Given the description of an element on the screen output the (x, y) to click on. 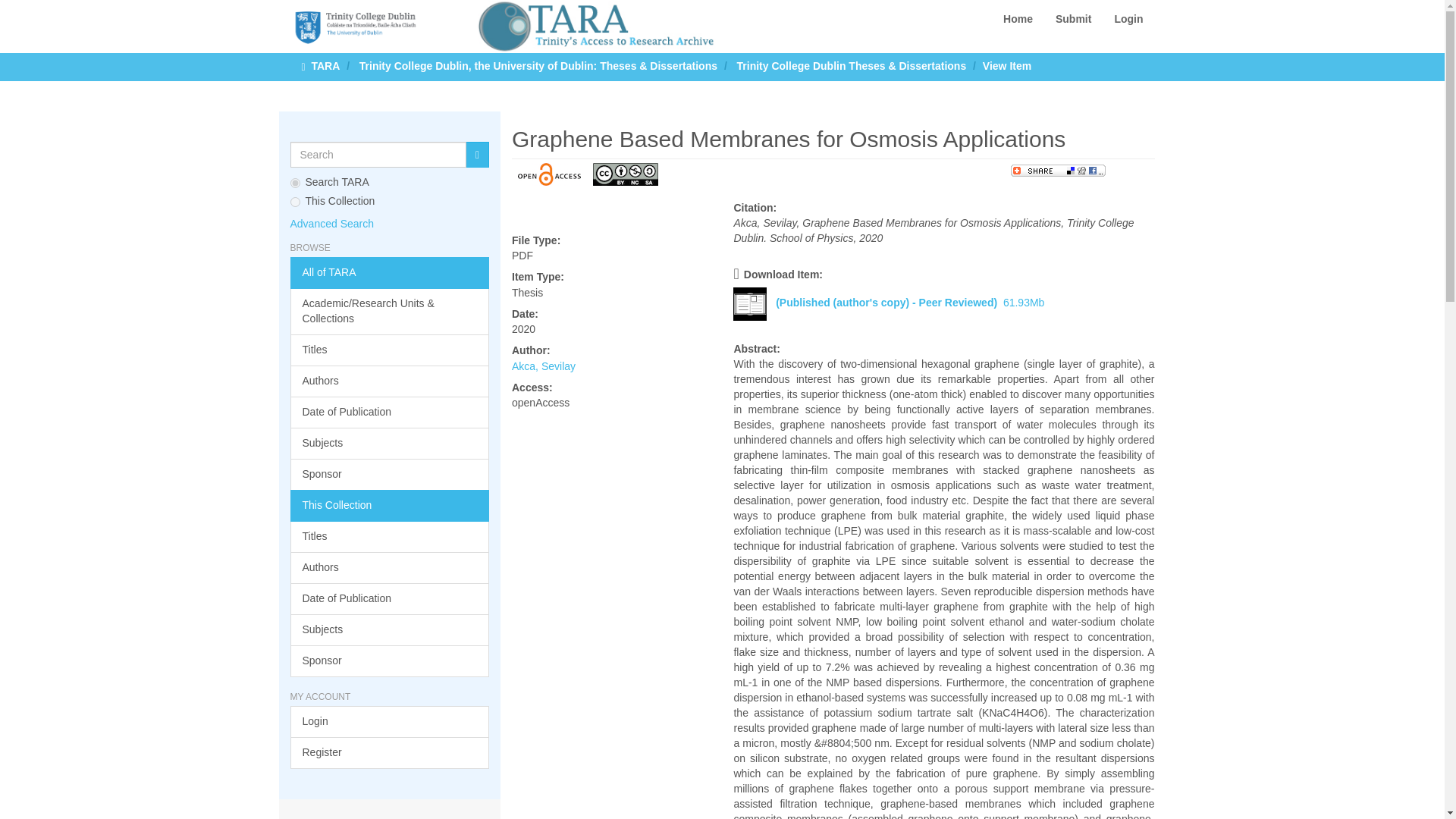
Akca, Sevilay (543, 366)
Go (477, 154)
Date of Publication (389, 599)
Titles (389, 350)
Subjects (389, 443)
Authors (389, 567)
Sponsor (389, 474)
Authors (389, 381)
All of TARA (389, 273)
Titles (389, 536)
